Given the description of an element on the screen output the (x, y) to click on. 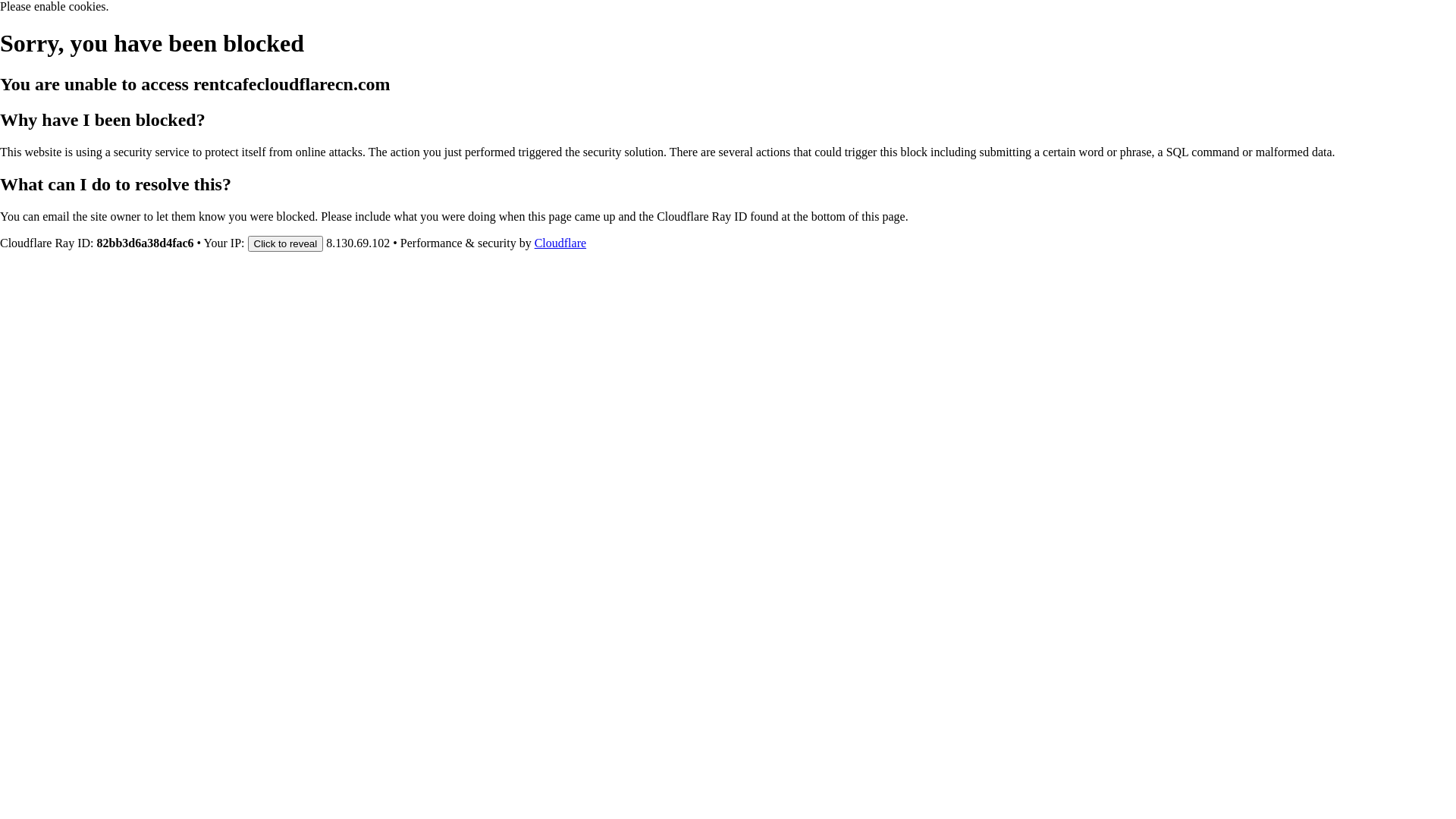
Cloudflare Element type: text (560, 242)
Click to reveal Element type: text (285, 243)
